Given the description of an element on the screen output the (x, y) to click on. 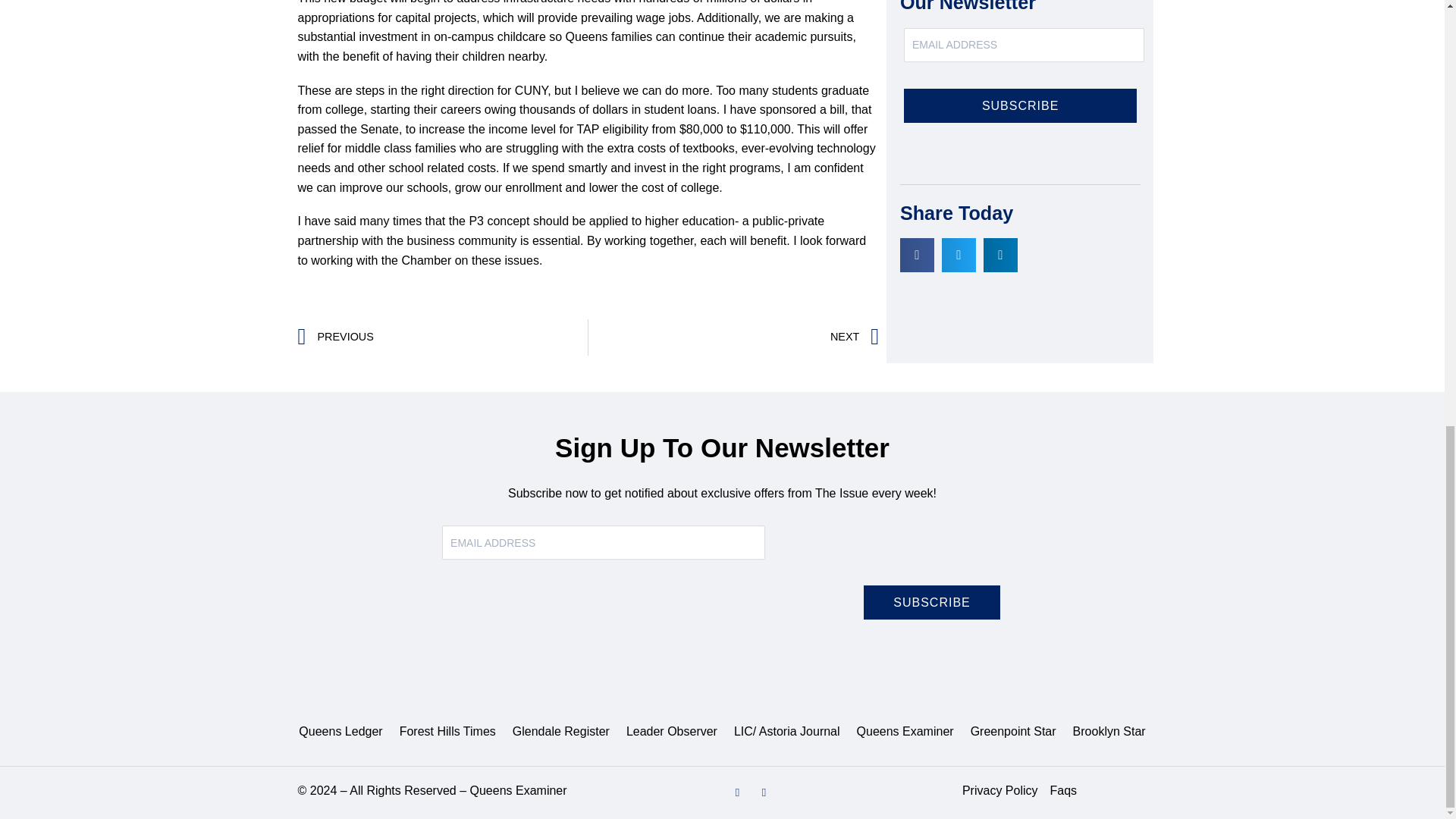
Subscribe (931, 602)
Subscribe (1020, 105)
